Given the description of an element on the screen output the (x, y) to click on. 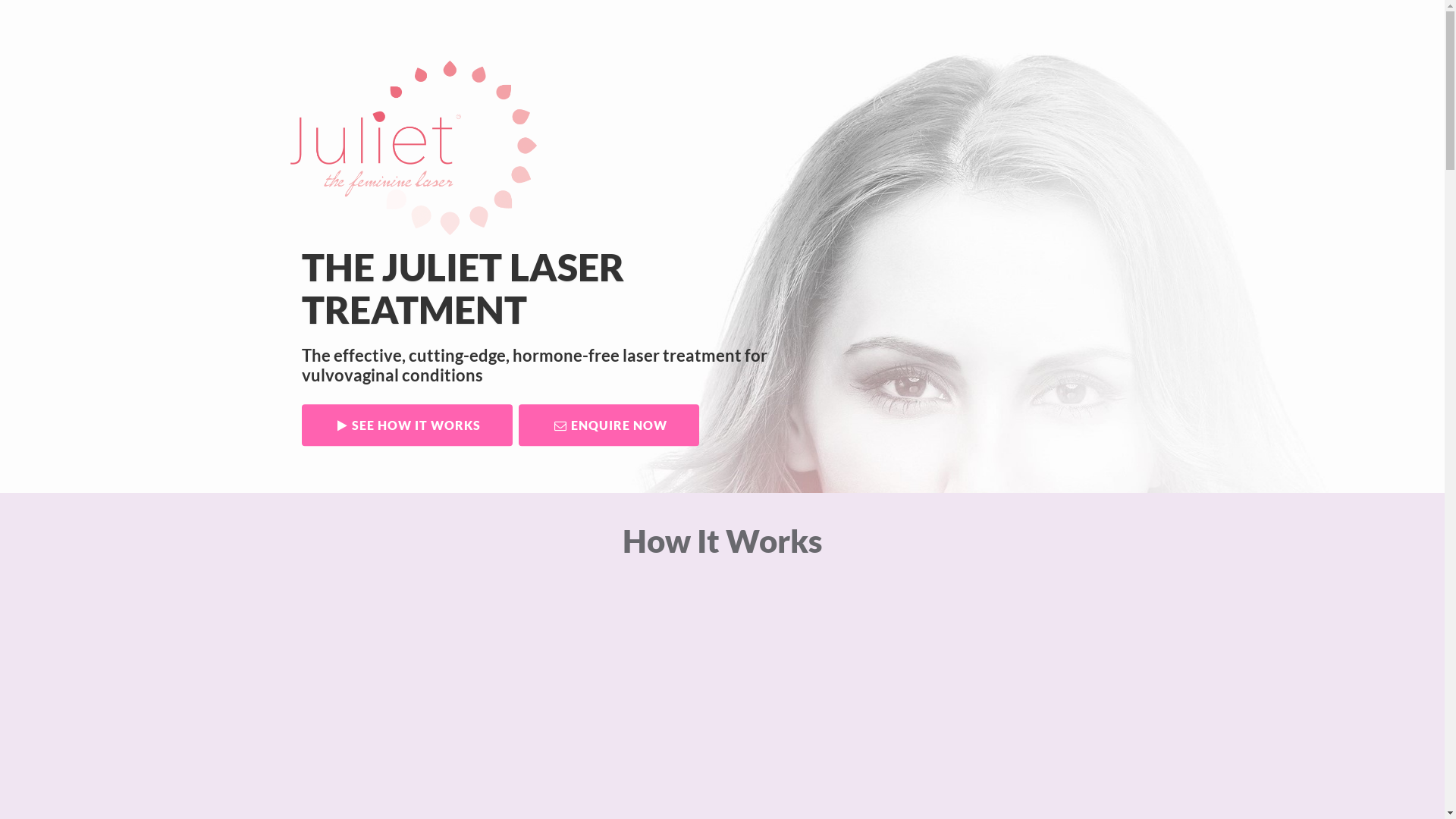
SEE HOW IT WORKS Element type: text (406, 424)
ENQUIRE NOW Element type: text (608, 424)
